Given the description of an element on the screen output the (x, y) to click on. 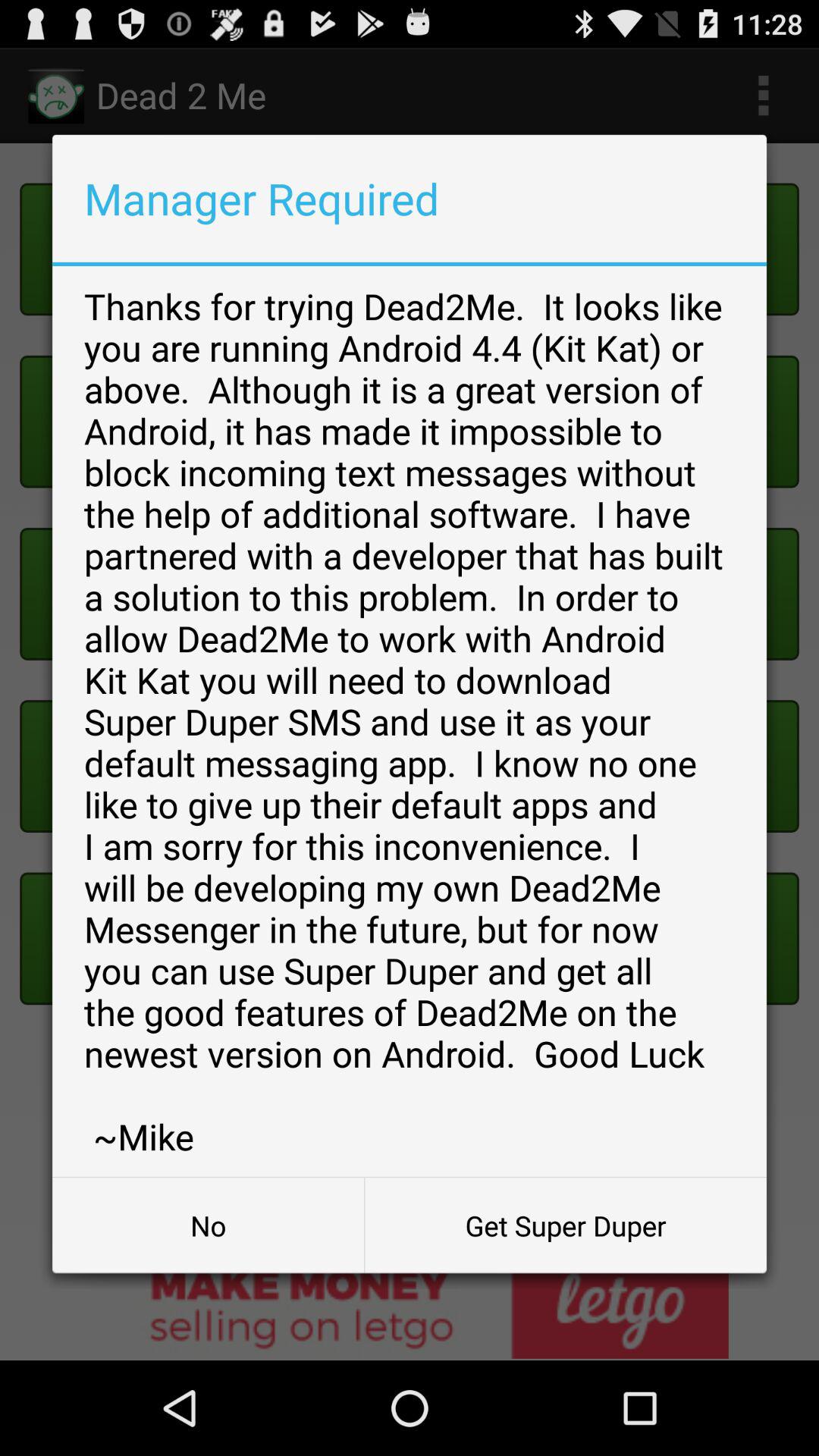
open get super duper button (565, 1225)
